Given the description of an element on the screen output the (x, y) to click on. 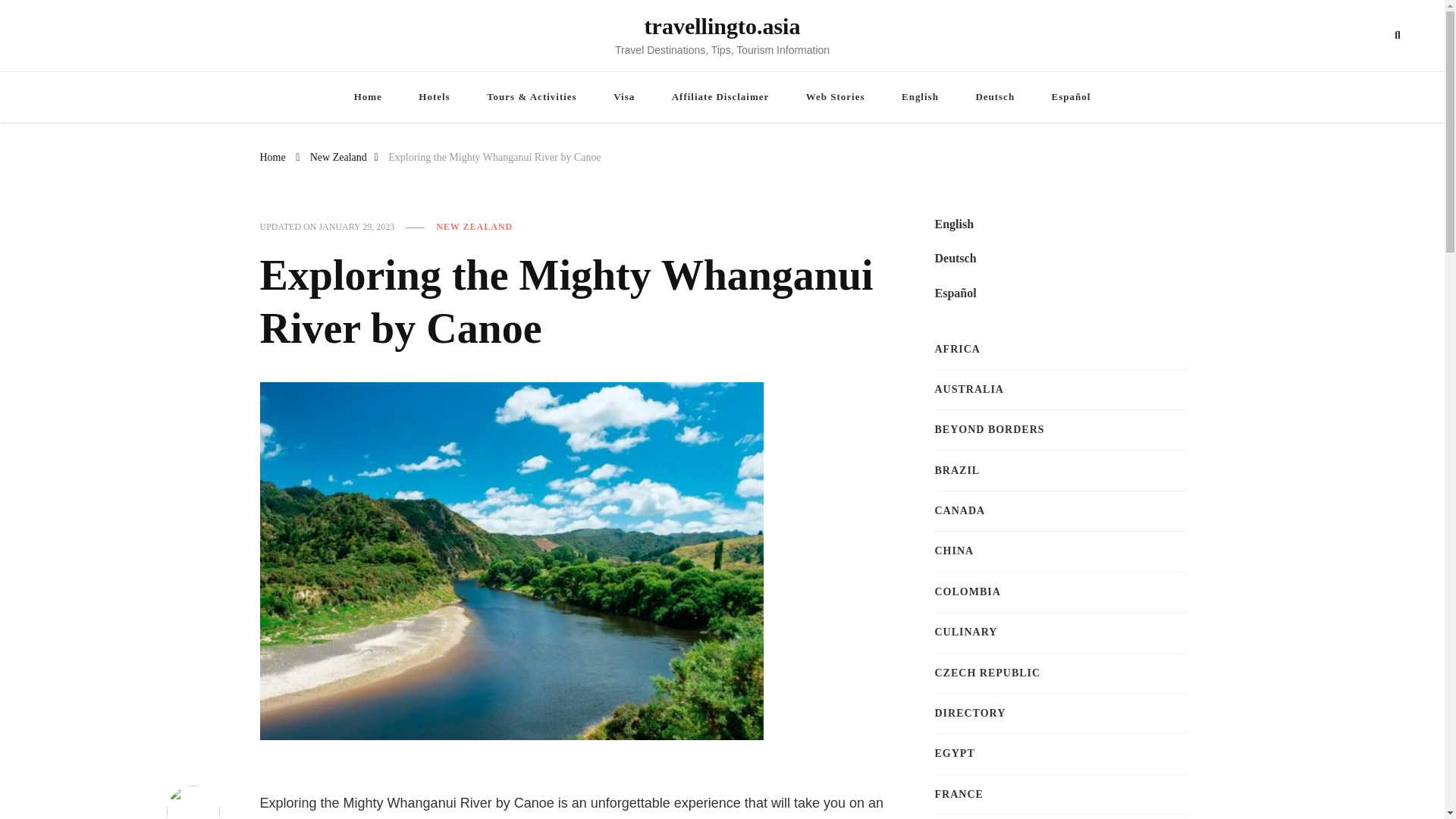
Hotels (433, 96)
Visa (623, 96)
Home (367, 96)
travellingto.asia (722, 25)
English (954, 224)
English (920, 96)
JANUARY 29, 2023 (356, 227)
Search (1367, 35)
New Zealand (338, 156)
Deutsch (954, 258)
